Given the description of an element on the screen output the (x, y) to click on. 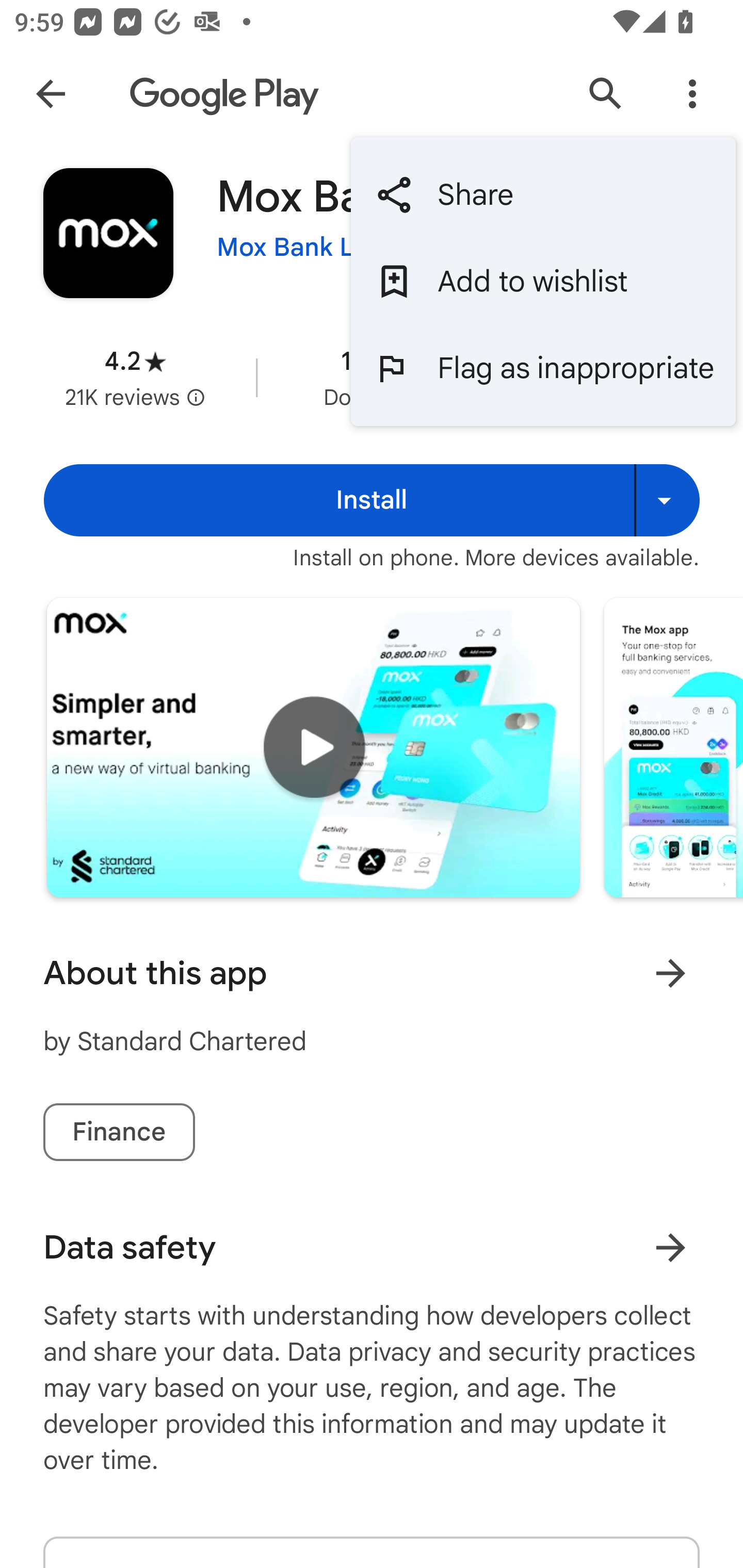
Share (542, 195)
Add to wishlist (542, 281)
Flag as inappropriate (542, 367)
